Given the description of an element on the screen output the (x, y) to click on. 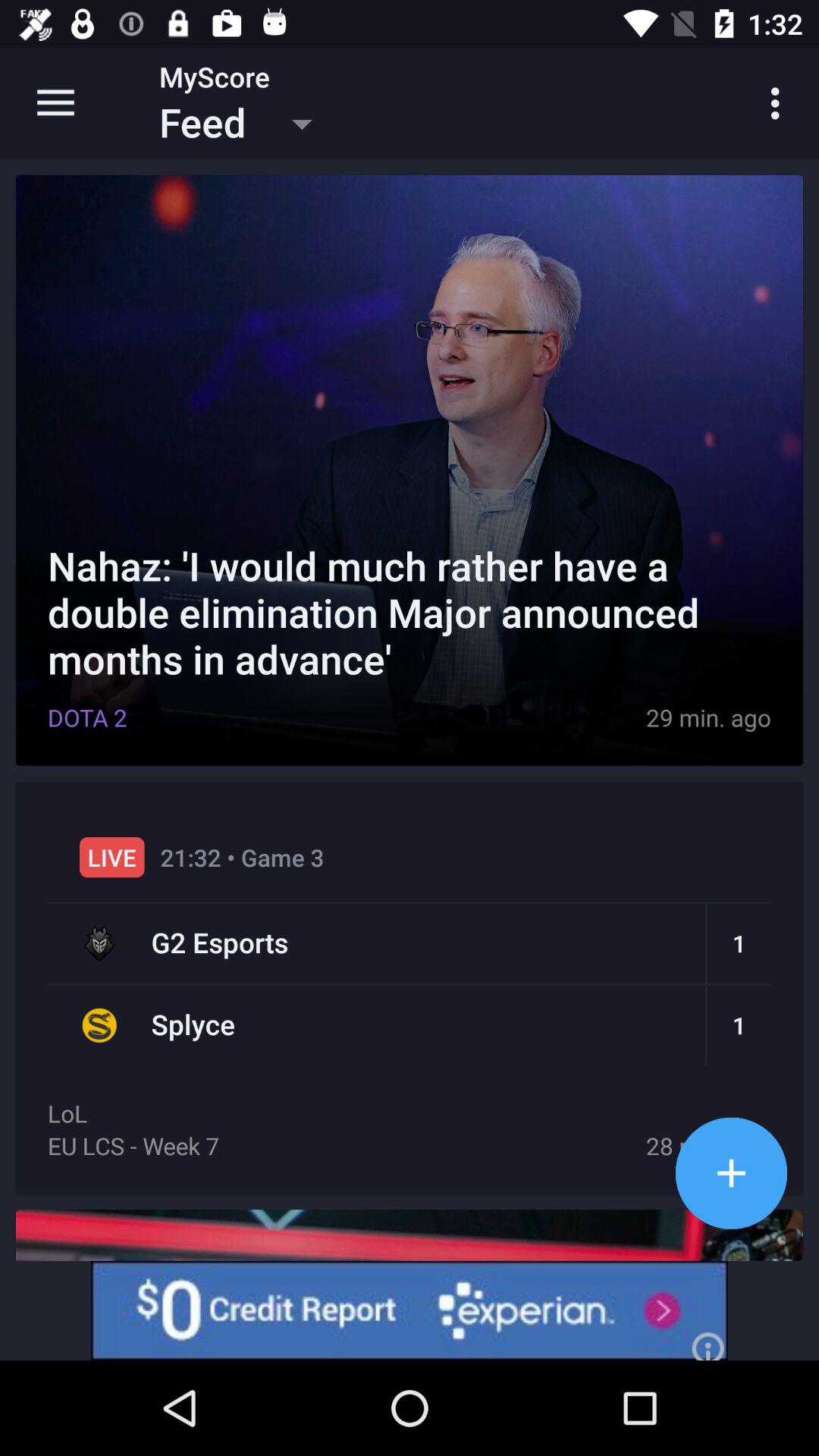
increase button (731, 1173)
